Given the description of an element on the screen output the (x, y) to click on. 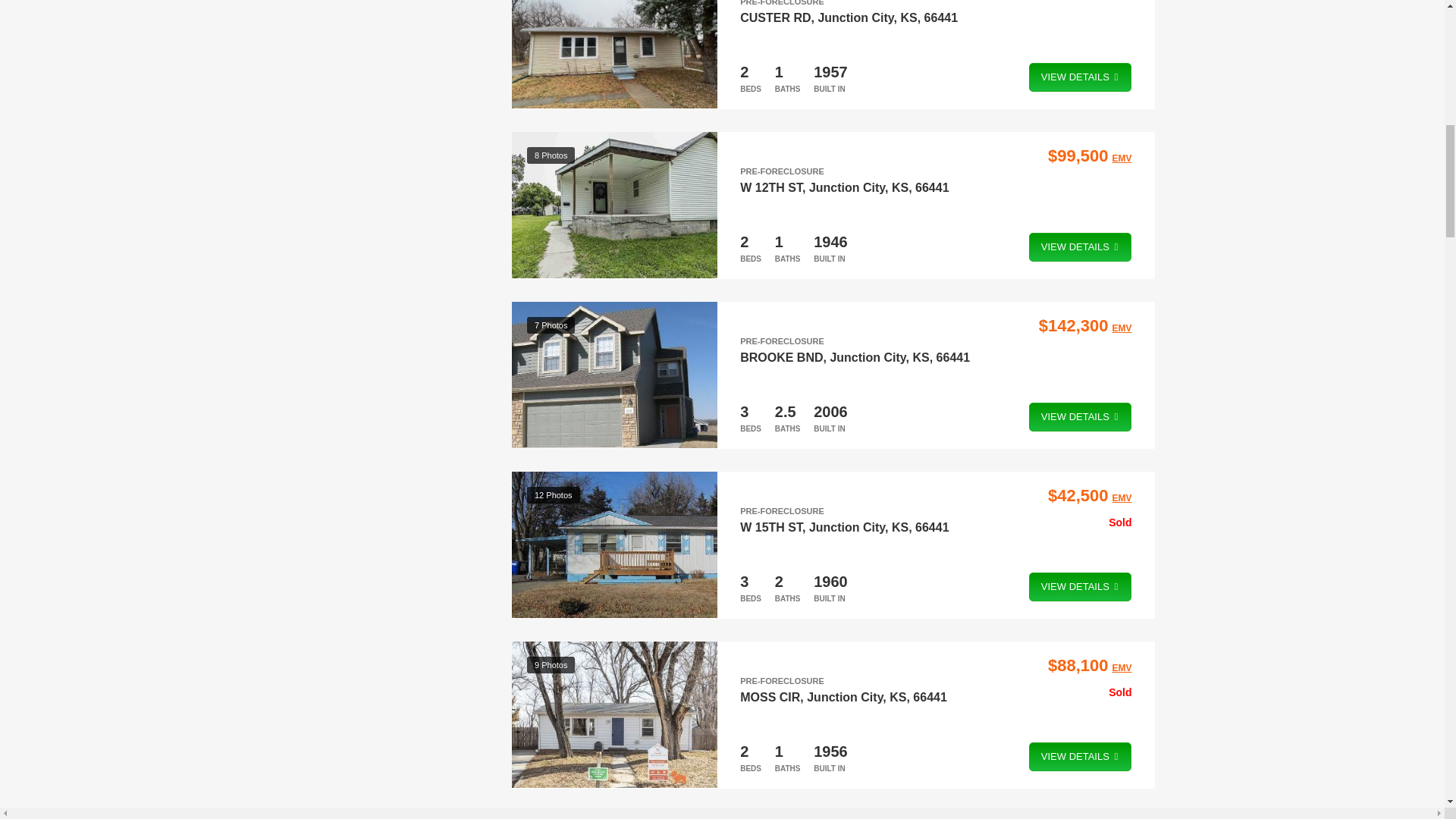
W 15TH ST (770, 526)
9 Photos (614, 714)
VIEW DETAILS (1080, 416)
BROOKE BND (780, 356)
VIEW DETAILS (1080, 246)
VIEW DETAILS (1080, 756)
7 Photos (614, 375)
CUSTER RD (774, 16)
12 Photos (614, 545)
MOSS CIR (769, 696)
W 12TH ST (770, 186)
12 Photos (614, 54)
8 Photos (614, 205)
VIEW DETAILS (1080, 77)
VIEW DETAILS (1080, 586)
